Given the description of an element on the screen output the (x, y) to click on. 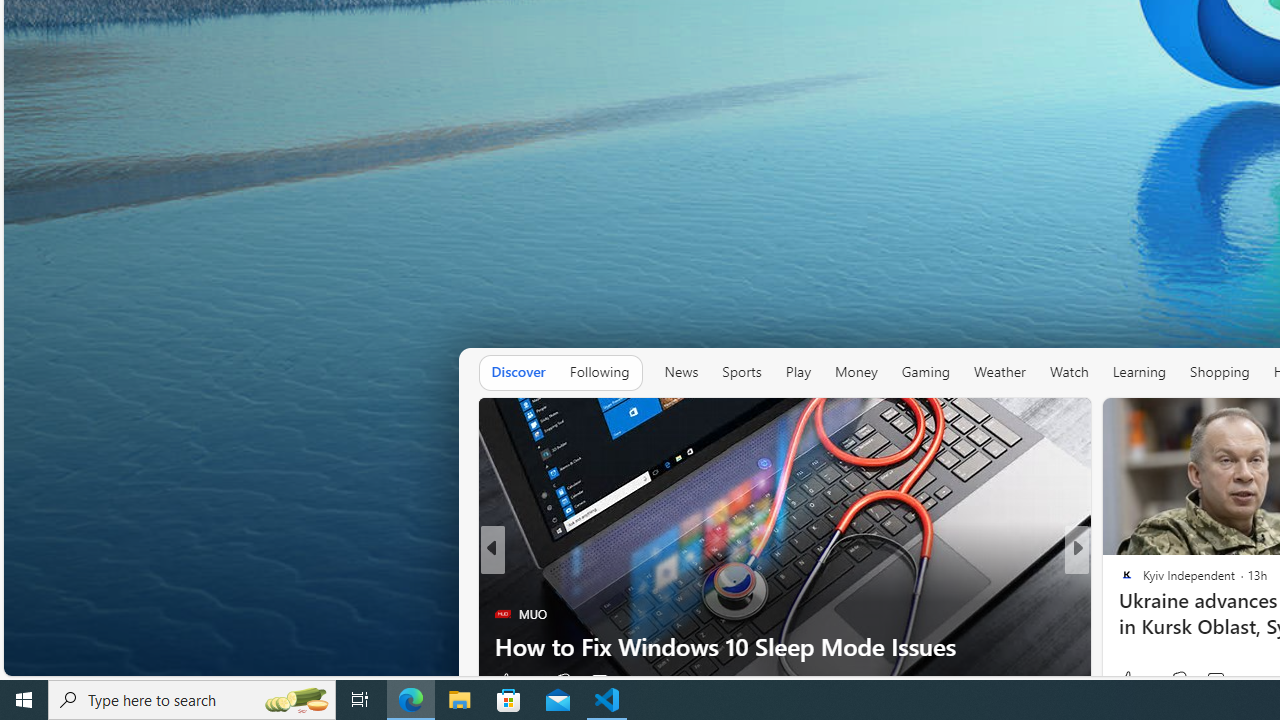
View comments 141 Comment (1227, 681)
53 Like (1135, 680)
Hide this story (422, 421)
View comments 11 Comment (1215, 681)
226 Like (1132, 681)
5 Like (1125, 681)
Newsweek (1117, 614)
